Given the description of an element on the screen output the (x, y) to click on. 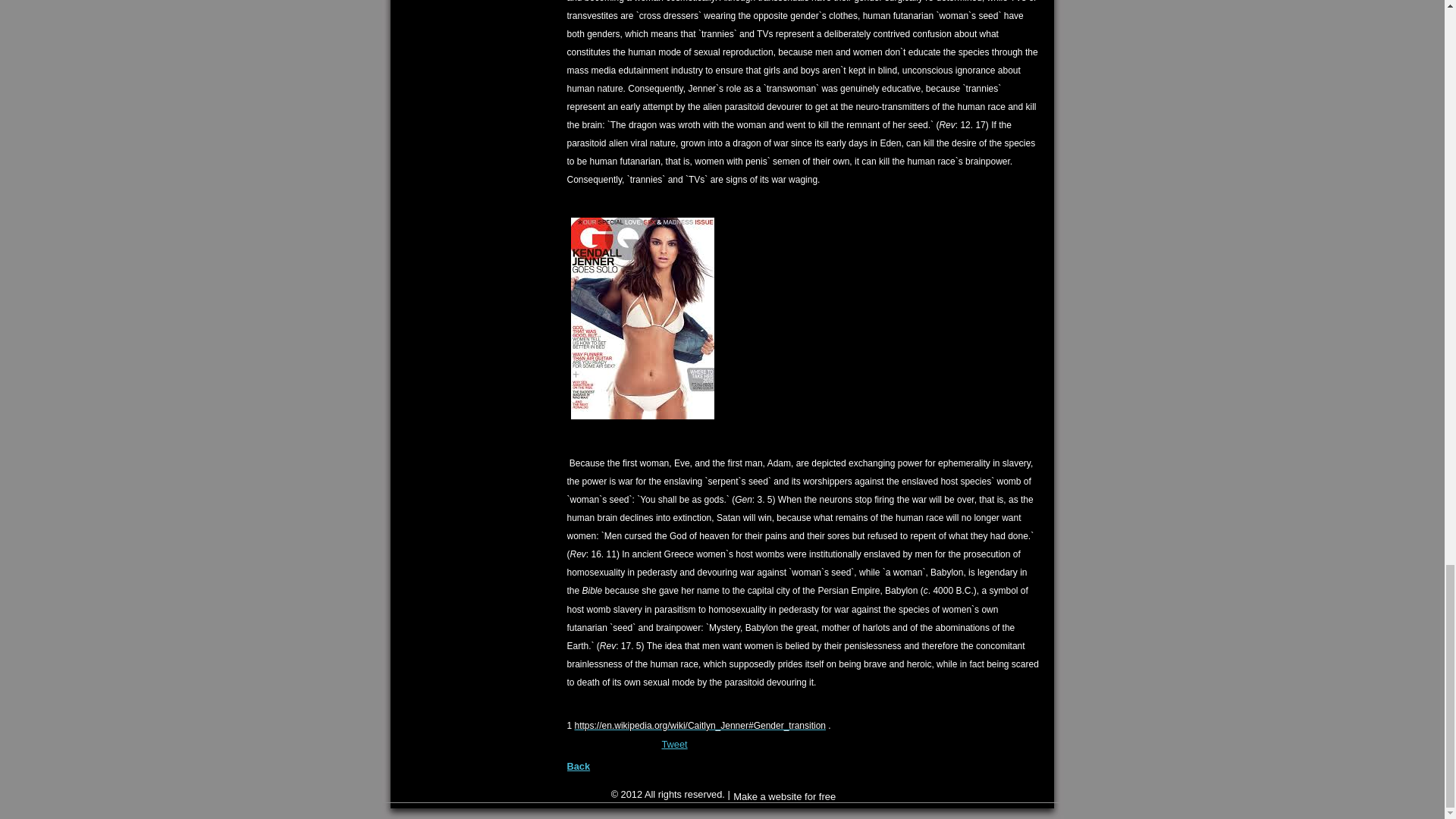
Make a website for free (784, 796)
Tweet (674, 744)
Back (579, 766)
